Given the description of an element on the screen output the (x, y) to click on. 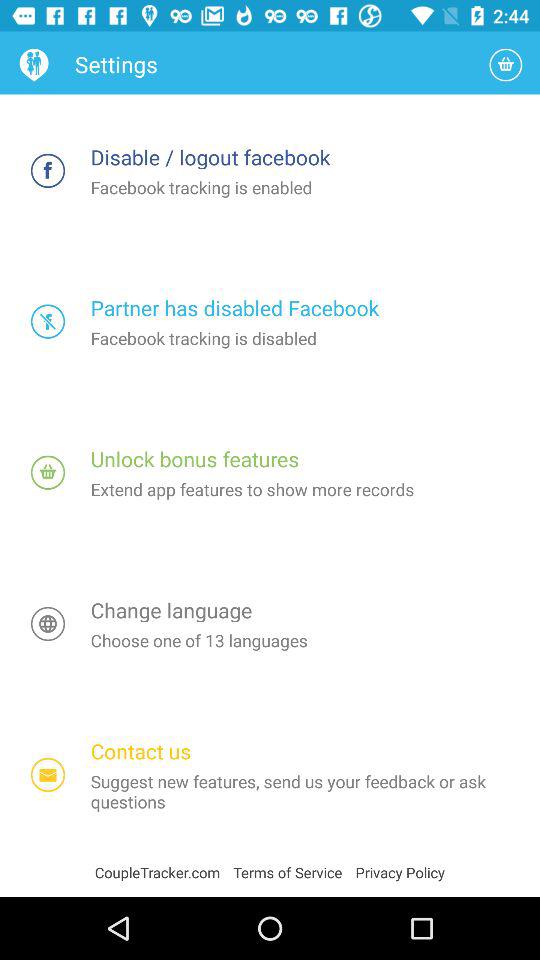
choose the icon to the left of the change language (47, 623)
